Given the description of an element on the screen output the (x, y) to click on. 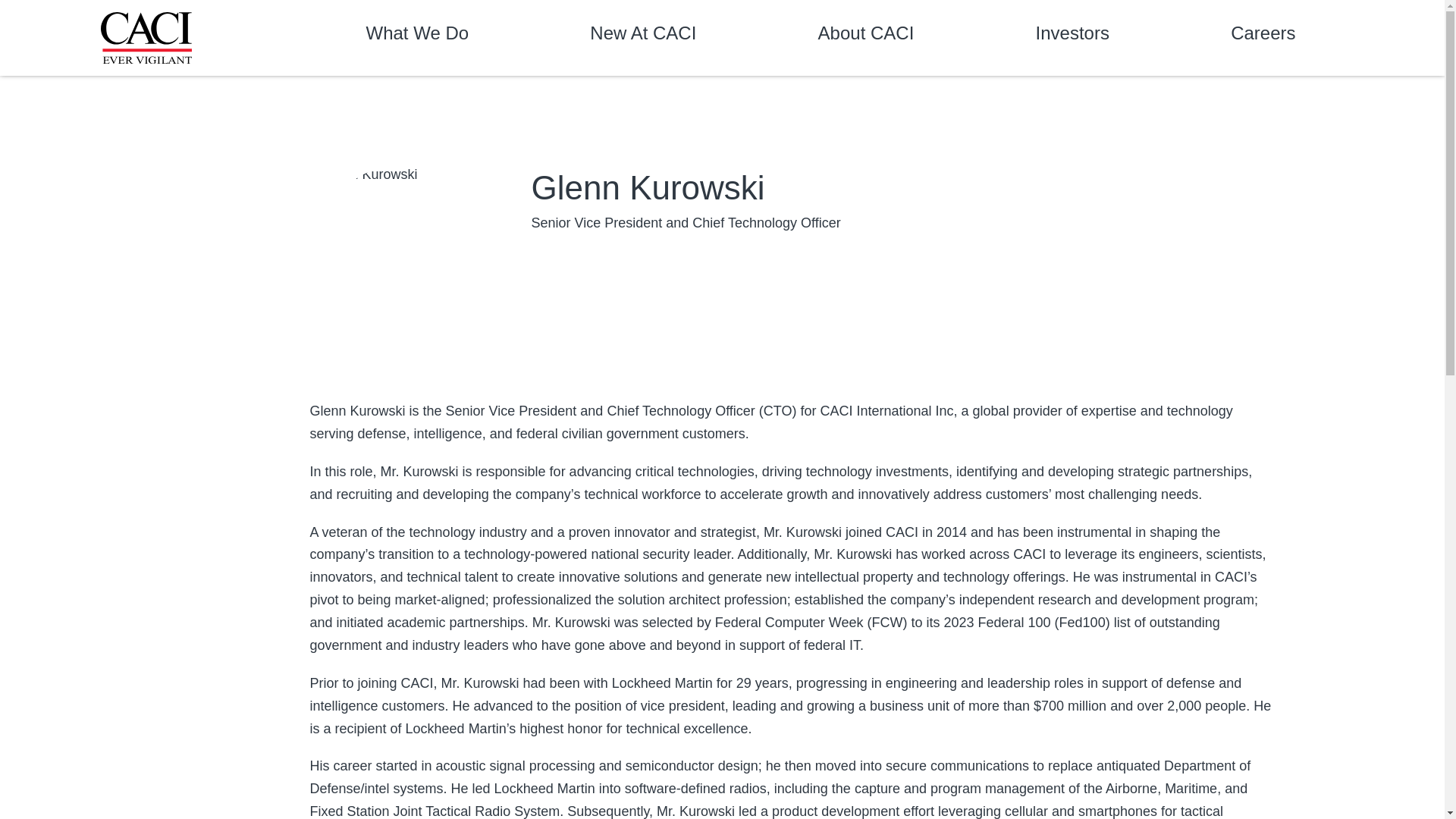
What We Do (416, 36)
About CACI (866, 36)
Search (1330, 37)
Search (1330, 37)
Careers (1262, 36)
Home (145, 37)
New At CACI (642, 36)
Investors (1072, 36)
